Given the description of an element on the screen output the (x, y) to click on. 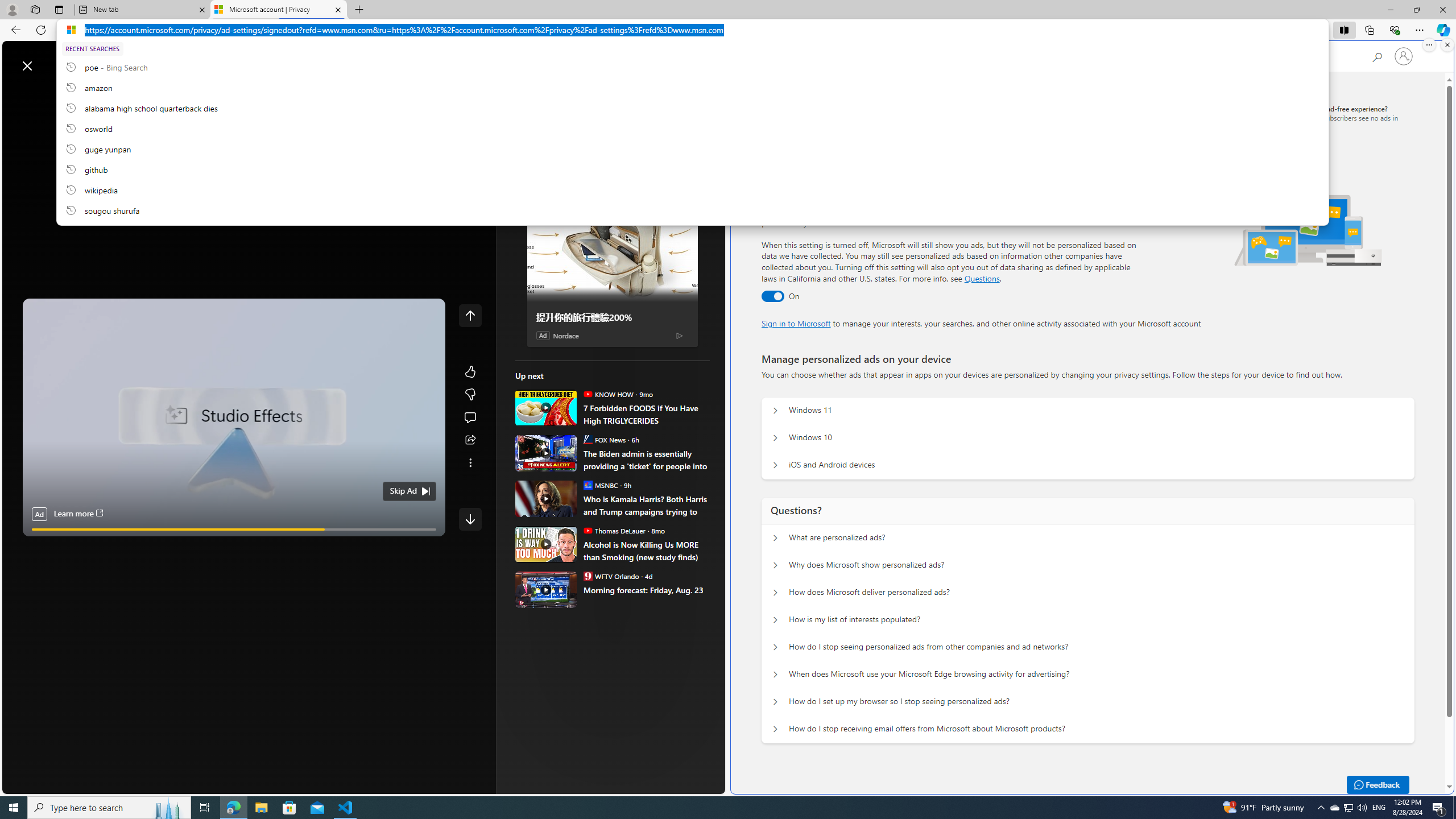
FOX News (587, 438)
Skip to footer (46, 59)
Help (915, 54)
Privacy (784, 112)
video progress bar (234, 529)
Account (878, 56)
ABC News (554, 415)
Summer Sale! Up to -55% (616, 515)
guge yunpan, recent searches from history (691, 148)
